Given the description of an element on the screen output the (x, y) to click on. 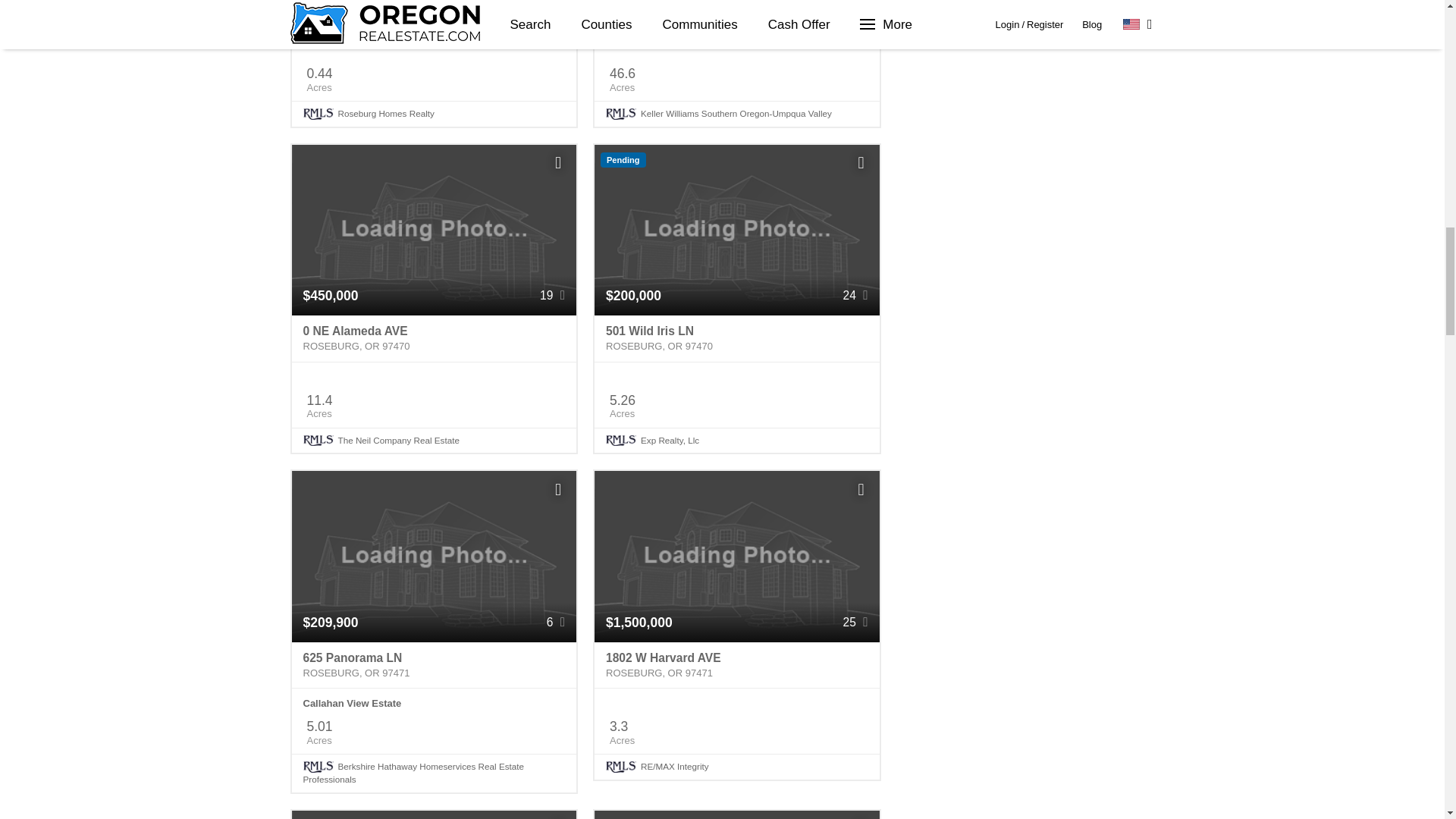
2055 W Military AVE Roseburg,  OR 97471 (433, 18)
